Given the description of an element on the screen output the (x, y) to click on. 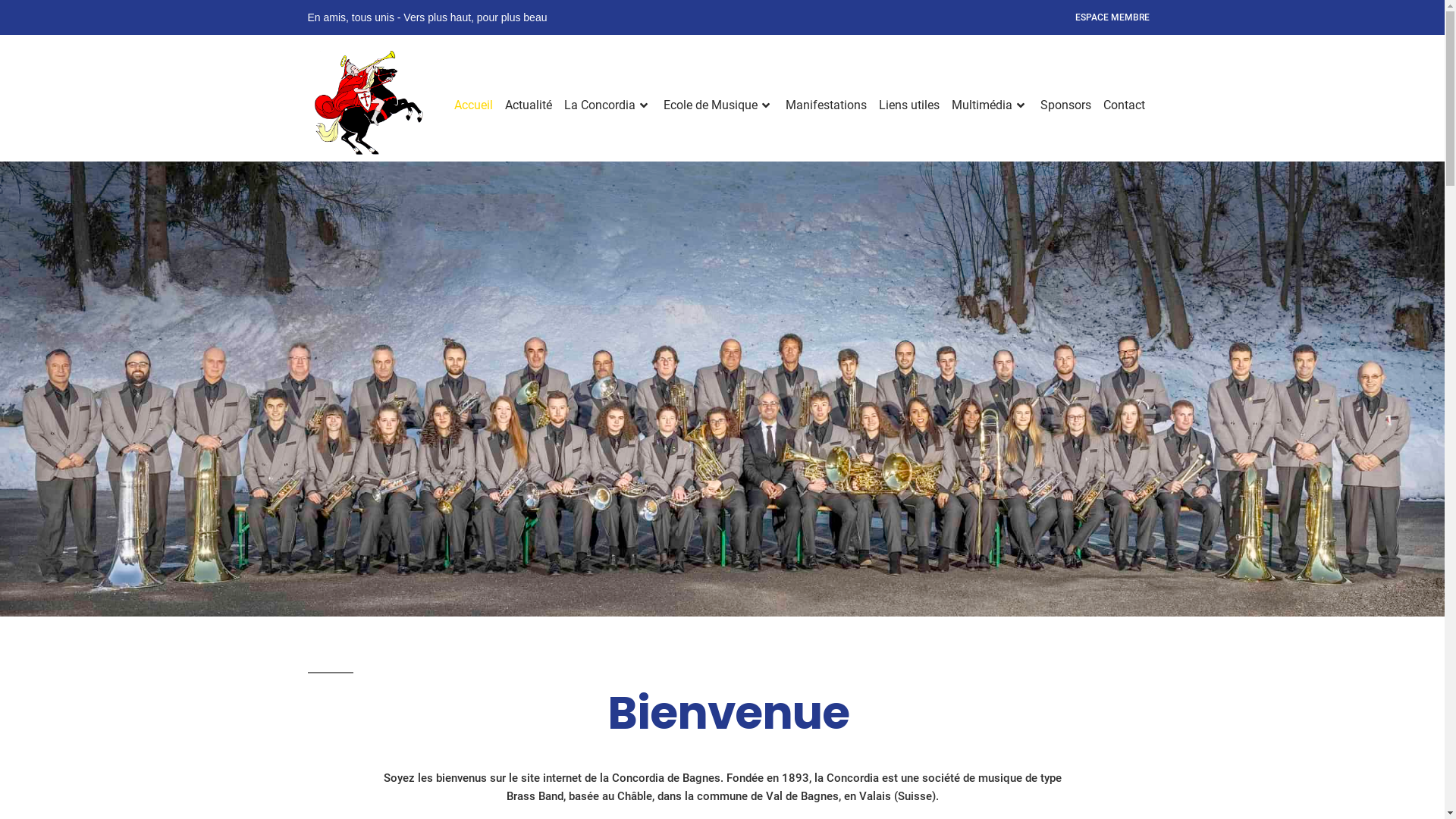
Accueil Element type: text (475, 105)
En amis, tous unis - Vers plus haut, pour plus beau Element type: text (427, 17)
La Concordia Element type: text (607, 105)
Liens utiles Element type: text (908, 105)
Sponsors Element type: text (1065, 105)
Ecole de Musique Element type: text (717, 105)
ESPACE MEMBRE Element type: text (1112, 17)
Manifestations Element type: text (825, 105)
Contact Element type: text (1120, 105)
